Given the description of an element on the screen output the (x, y) to click on. 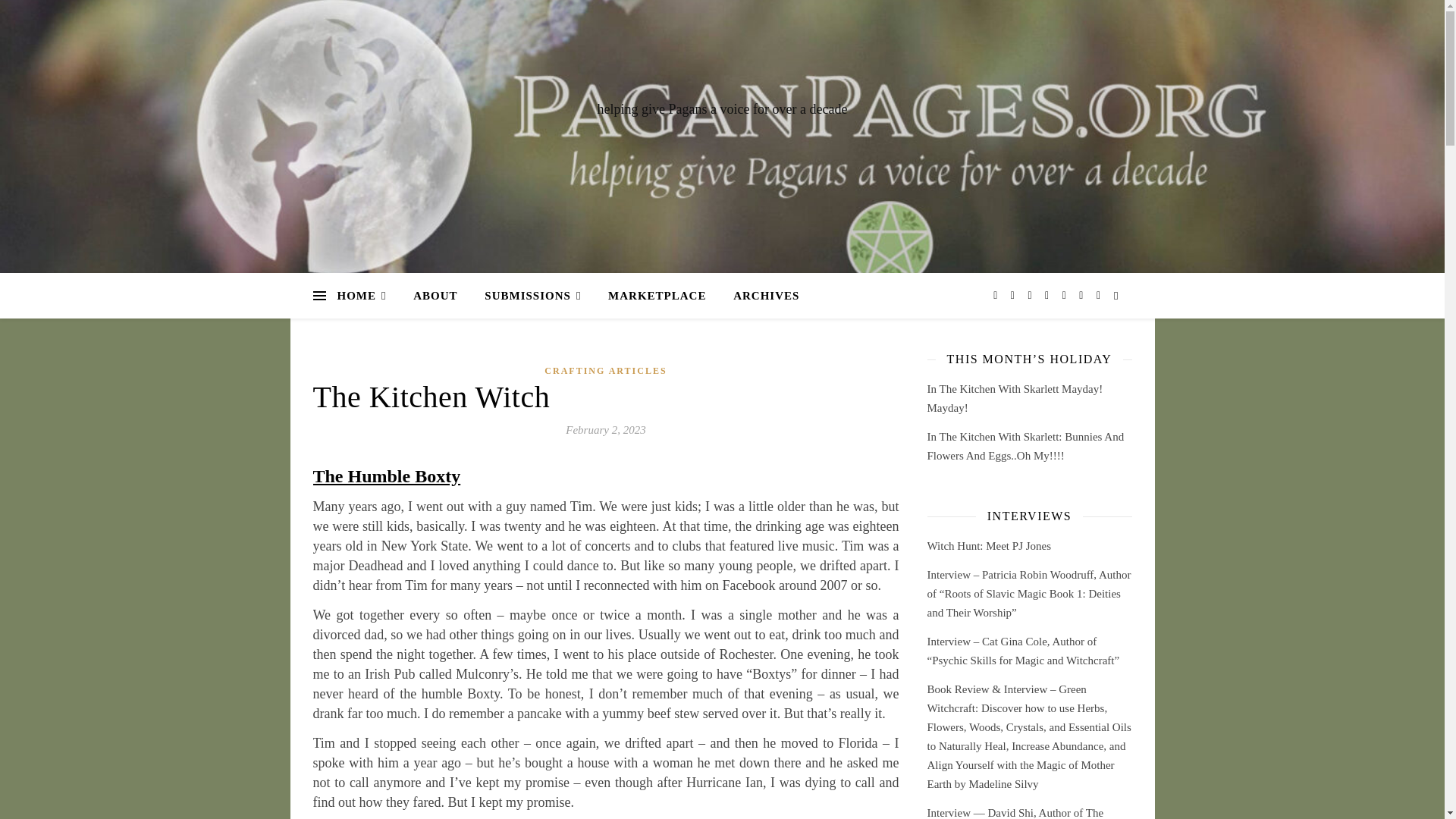
ARCHIVES (759, 295)
HOME (366, 295)
MARKETPLACE (656, 295)
ABOUT (434, 295)
SUBMISSIONS (531, 295)
